Given the description of an element on the screen output the (x, y) to click on. 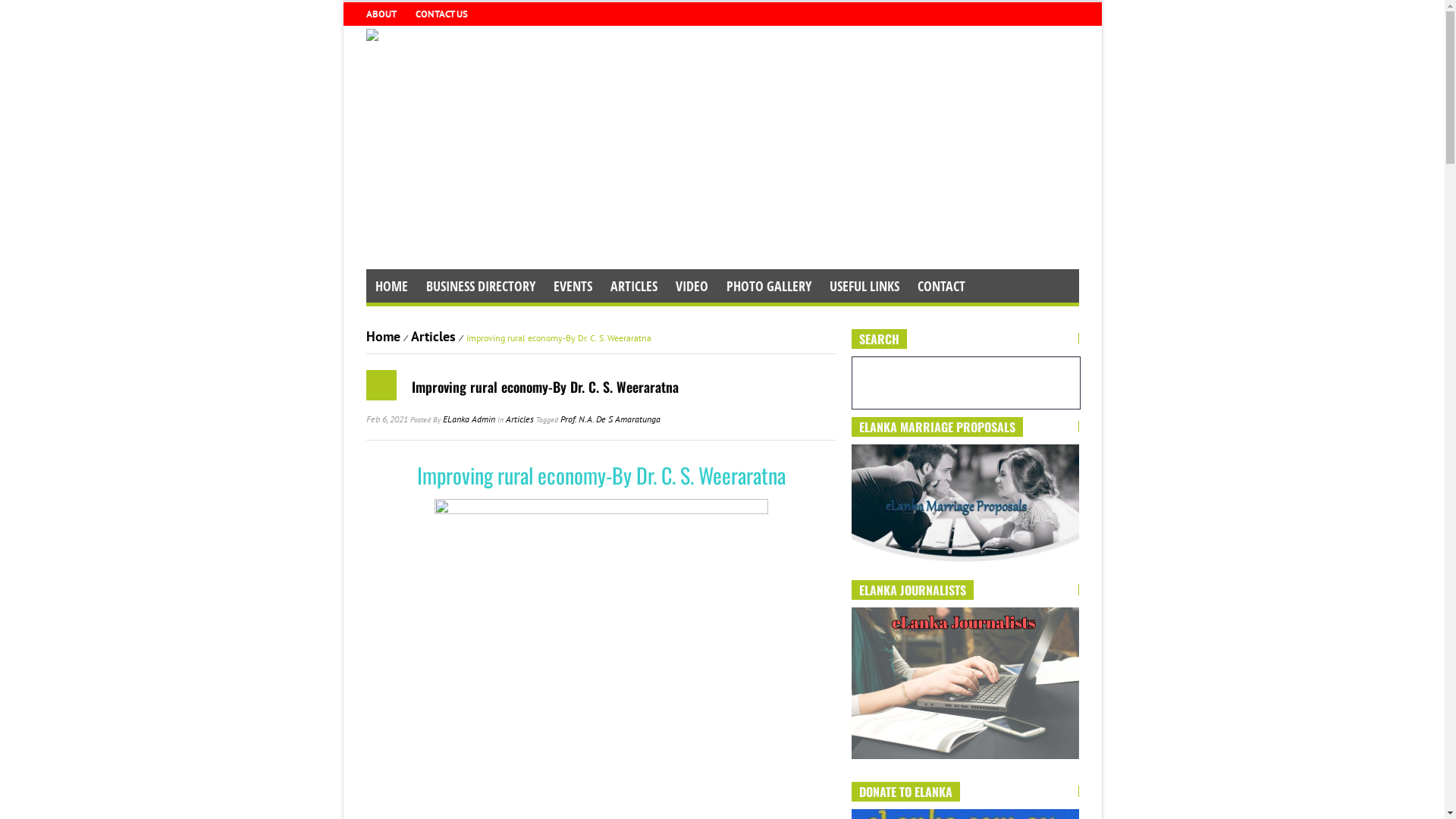
Prof. N.A. De S Amaratunga Element type: text (609, 418)
Improving rural economy-By Dr. C. S. Weeraratna Element type: text (544, 386)
eLanka Element type: hover (371, 32)
Advertisement Element type: hover (721, 155)
ARTICLES Element type: text (632, 285)
VIDEO Element type: text (690, 285)
USEFUL LINKS Element type: text (864, 285)
PHOTO GALLERY Element type: text (768, 285)
ABOUT Element type: text (382, 13)
ELanka Admin Element type: text (468, 418)
BUSINESS DIRECTORY Element type: text (480, 285)
Articles Element type: text (519, 418)
CONTACT US Element type: text (443, 13)
CONTACT Element type: text (941, 285)
HOME Element type: text (390, 285)
Home Element type: text (382, 336)
Articles Element type: text (433, 336)
EVENTS Element type: text (572, 285)
